Given the description of an element on the screen output the (x, y) to click on. 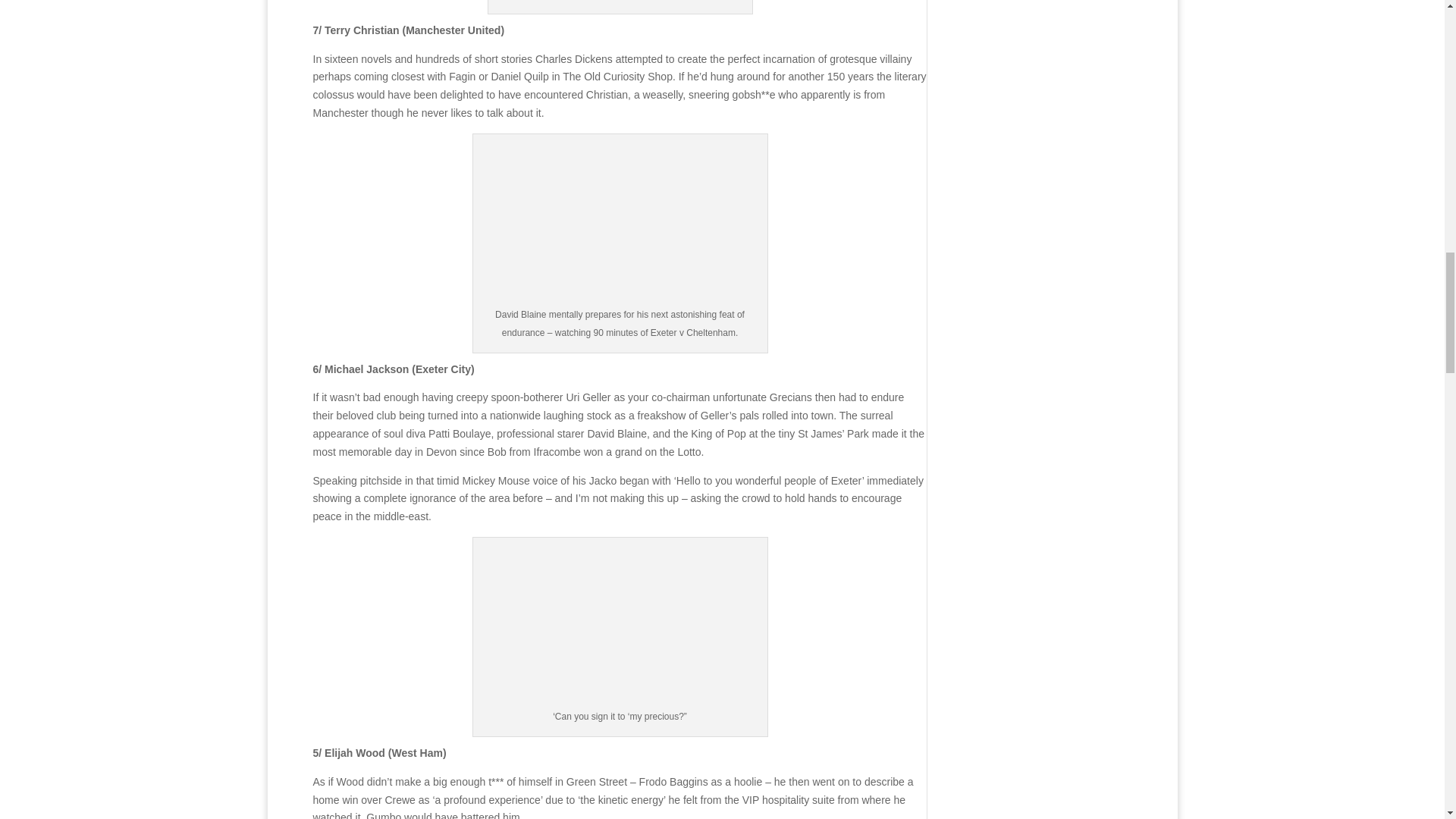
Michael-Jackson-with-Davi-0011-e1348184244827 (620, 221)
wht221-e1348184334350 (620, 624)
